Given the description of an element on the screen output the (x, y) to click on. 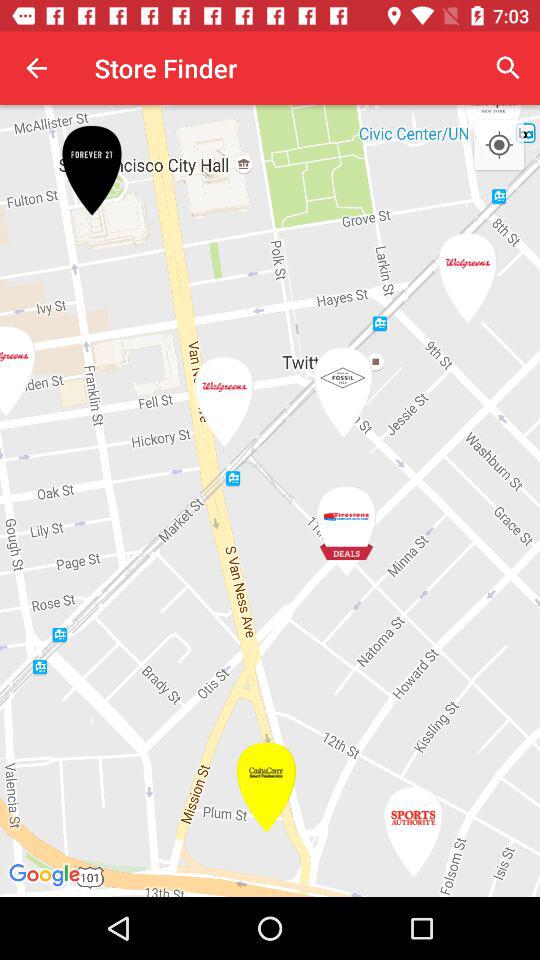
select the item at the center (270, 500)
